Given the description of an element on the screen output the (x, y) to click on. 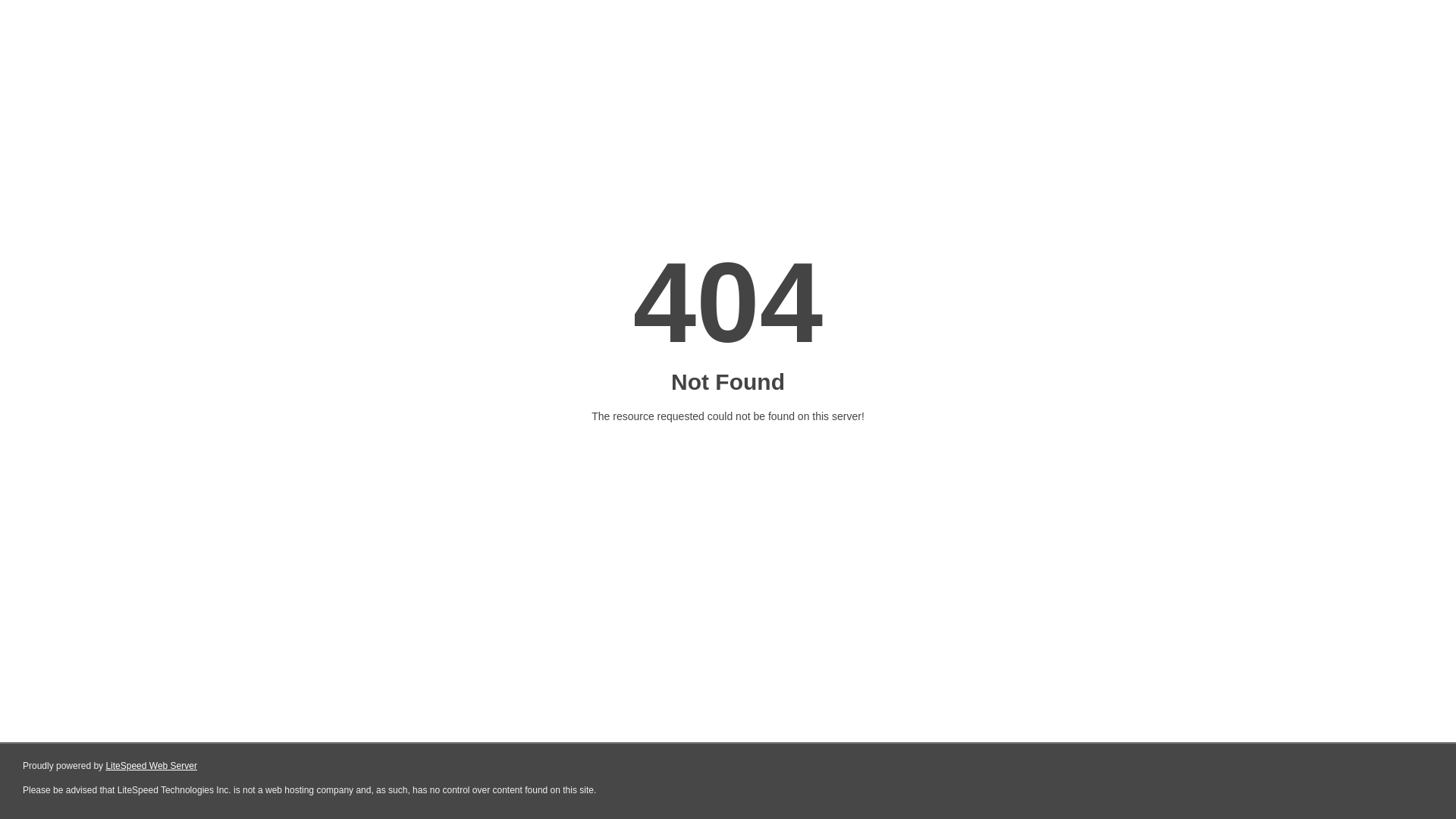
LiteSpeed Web Server Element type: text (151, 765)
